Given the description of an element on the screen output the (x, y) to click on. 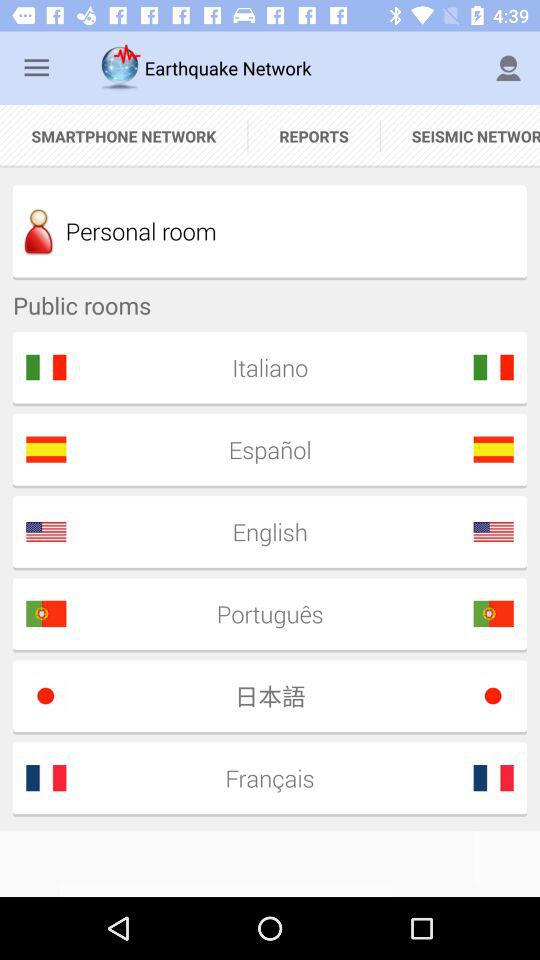
turn off the app next to the reports app (123, 136)
